Given the description of an element on the screen output the (x, y) to click on. 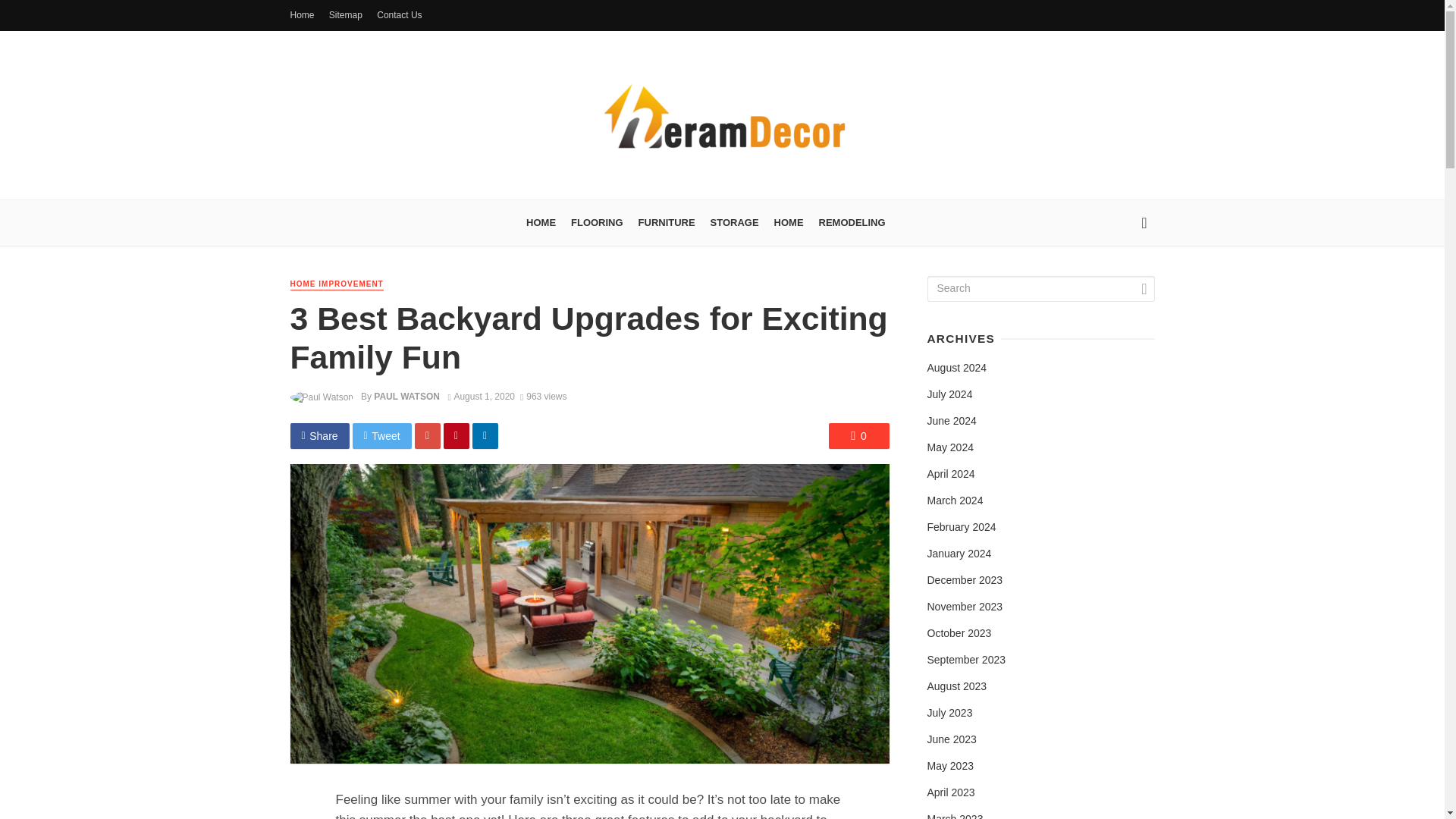
March 2024 (954, 500)
Tweet (382, 435)
Share on Pinterest (456, 435)
FURNITURE (666, 222)
August 2024 (956, 368)
HOME IMPROVEMENT (335, 284)
Contact Us (399, 14)
HOME (540, 222)
REMODELING (851, 222)
August 1, 2020 at 1:46 pm (480, 396)
